Given the description of an element on the screen output the (x, y) to click on. 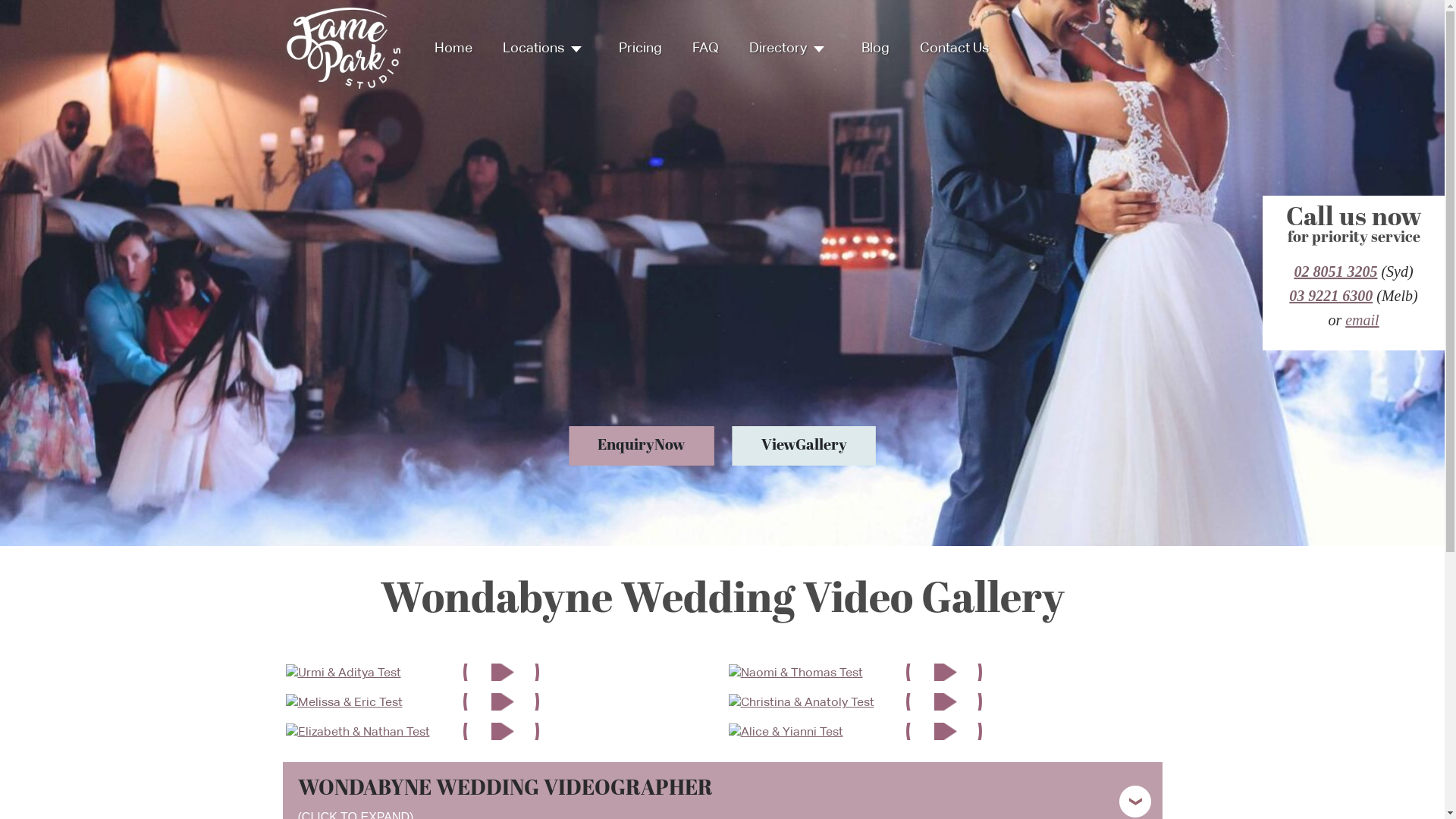
ViewGallery Element type: text (803, 445)
Melissa & Eric || Cinematic Wedding Highlight Element type: hover (343, 700)
Elizabeth & Nathan || Cinematic Wedding Highlight Element type: hover (357, 730)
FAQ Element type: text (704, 47)
Home Element type: text (452, 47)
02 8051 3205 Element type: text (1335, 271)
Christina & Anatoly || Unscripted Prewedding Film Element type: hover (800, 700)
Fame Park Studios Element type: hover (343, 47)
Locations Element type: text (544, 47)
Urmi & Aditya || Cinematic Wedding Highlight Element type: hover (342, 671)
Naomi & Thomas || Cinematic Wedding Highlight Element type: hover (795, 671)
Directory Element type: text (790, 47)
Contact Us Element type: text (953, 47)
Pricing Element type: text (640, 47)
Alice & Yianni || Cinematic Wedding Highlight Element type: hover (785, 730)
Blog Element type: text (875, 47)
email Element type: text (1361, 319)
03 9221 6300 Element type: text (1330, 295)
EnquiryNow Element type: text (640, 445)
